Given the description of an element on the screen output the (x, y) to click on. 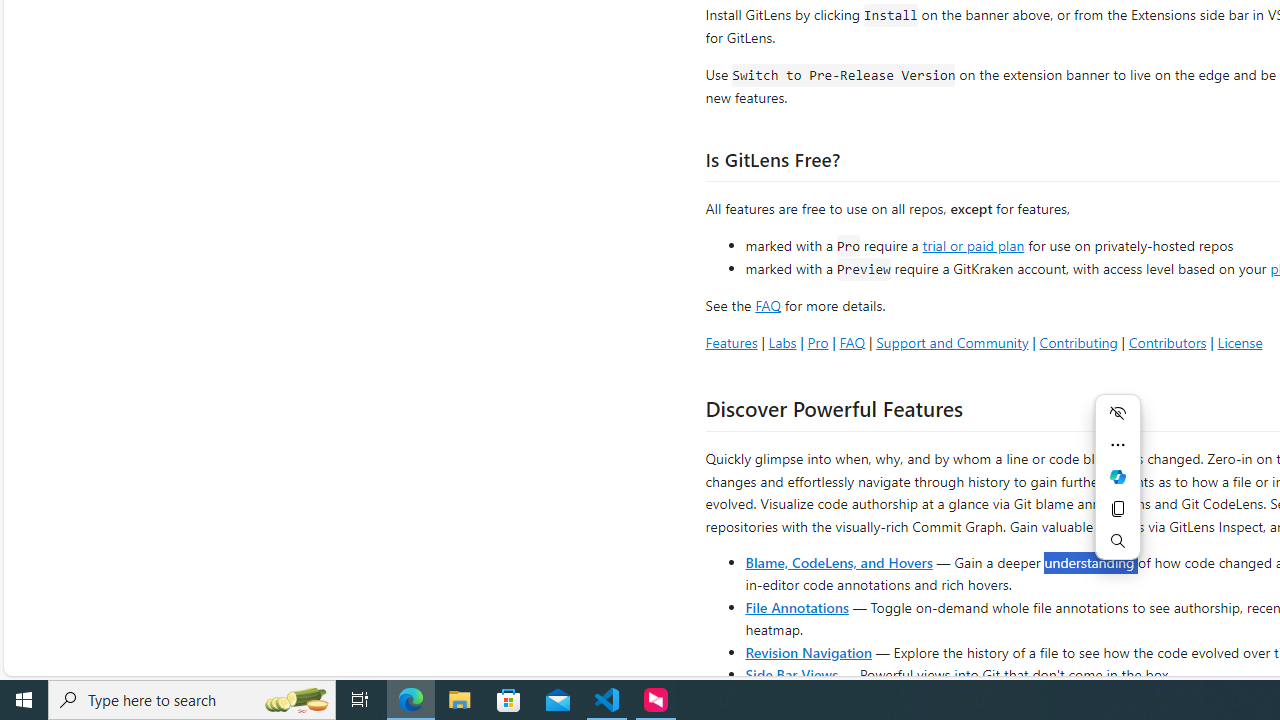
Features (731, 341)
More actions (1117, 444)
trial or paid plan (973, 244)
License (1240, 341)
Support and Community (952, 341)
